Given the description of an element on the screen output the (x, y) to click on. 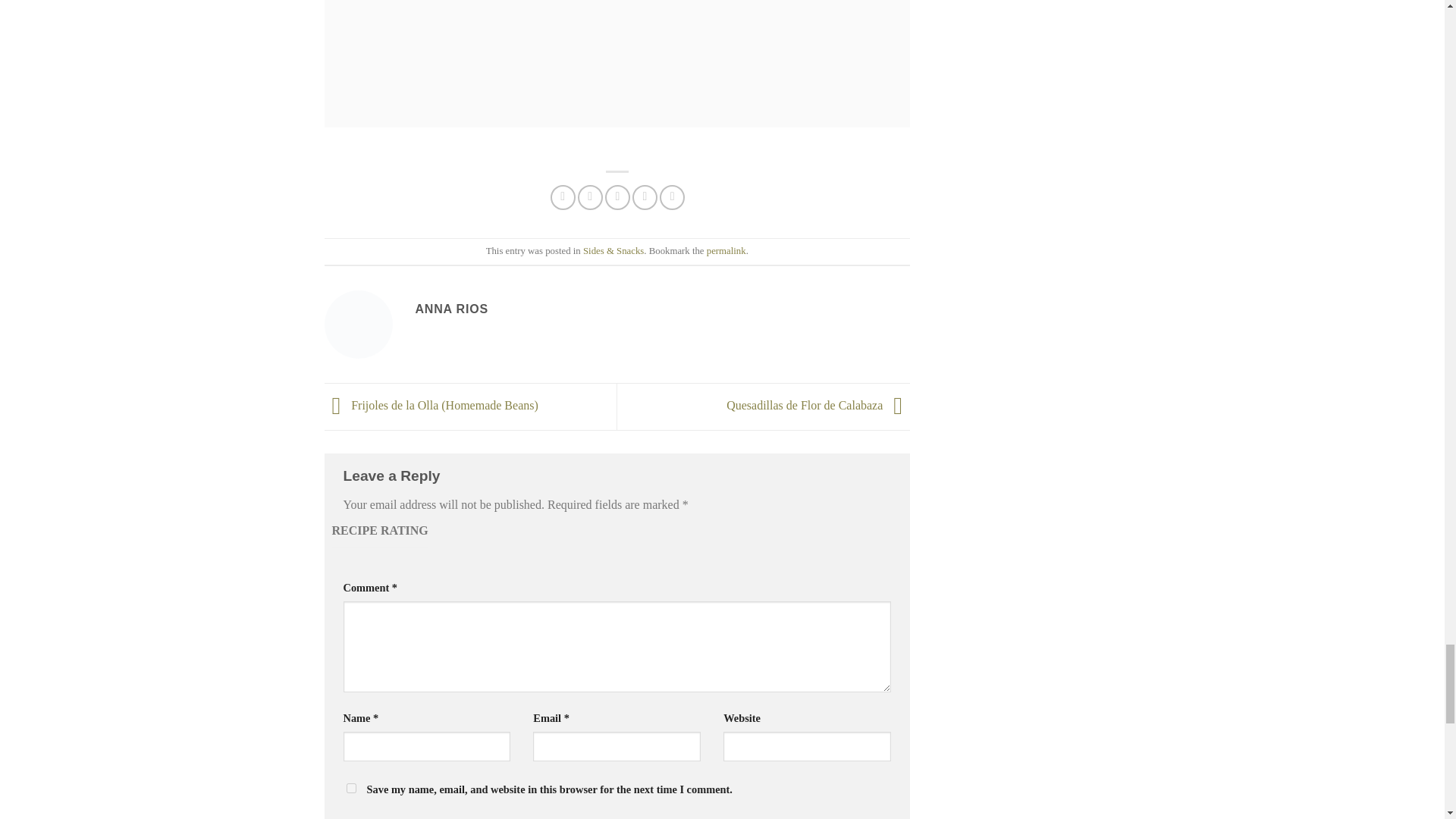
Email to a Friend (617, 197)
Share on Twitter (590, 197)
Permalink to Tortitas de Verduras (725, 250)
Share on Facebook (562, 197)
yes (350, 787)
Pin on Pinterest (644, 197)
Share on LinkedIn (671, 197)
